Given the description of an element on the screen output the (x, y) to click on. 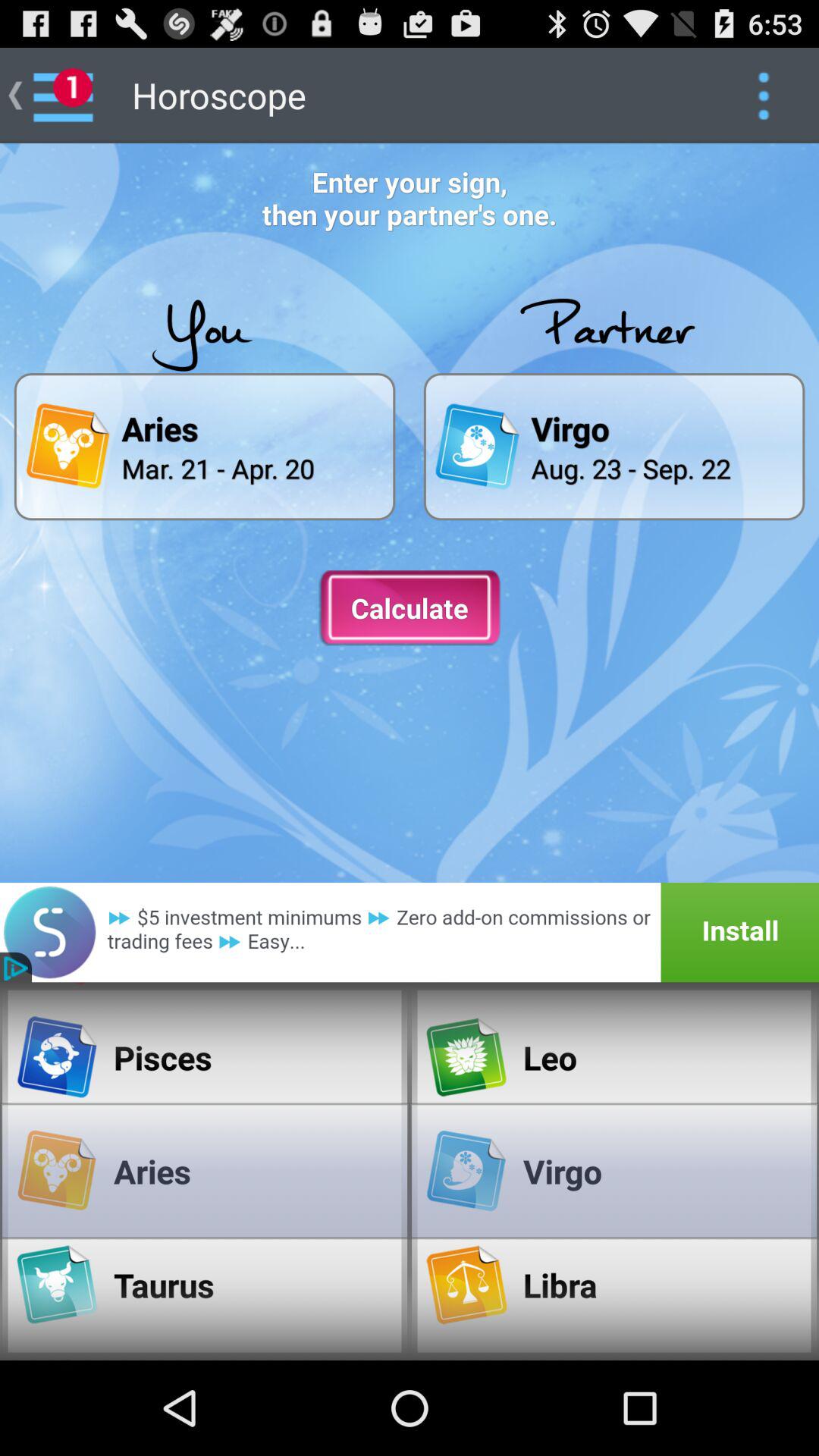
click option symbol (763, 95)
